Given the description of an element on the screen output the (x, y) to click on. 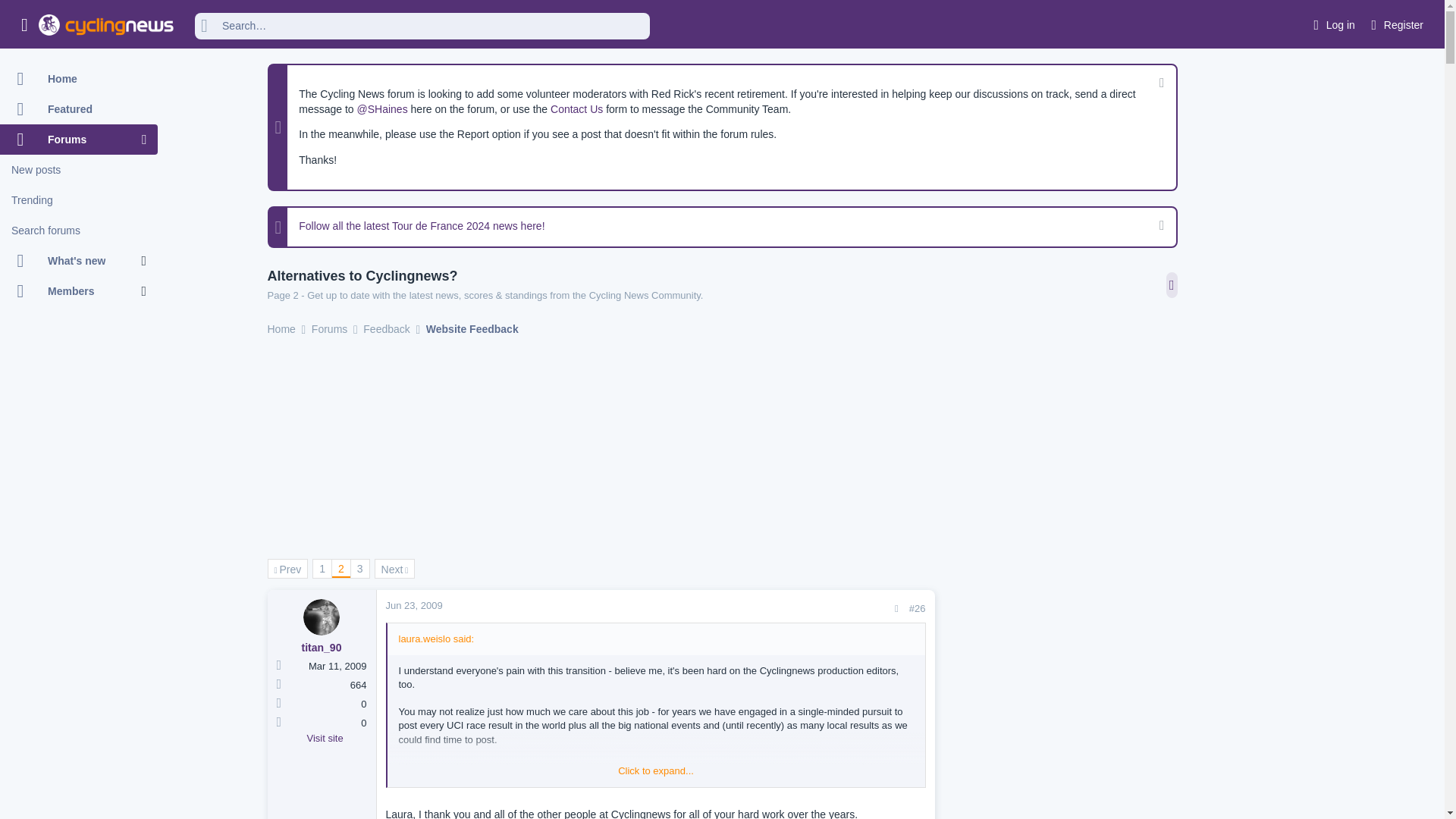
Search forums (78, 230)
Home (78, 78)
What's new (70, 260)
Forums (70, 139)
Log in (1332, 24)
Trending (78, 200)
Featured (78, 109)
Jun 23, 2009 at 5:56 PM (413, 604)
New posts (78, 169)
Register (1395, 24)
